Given the description of an element on the screen output the (x, y) to click on. 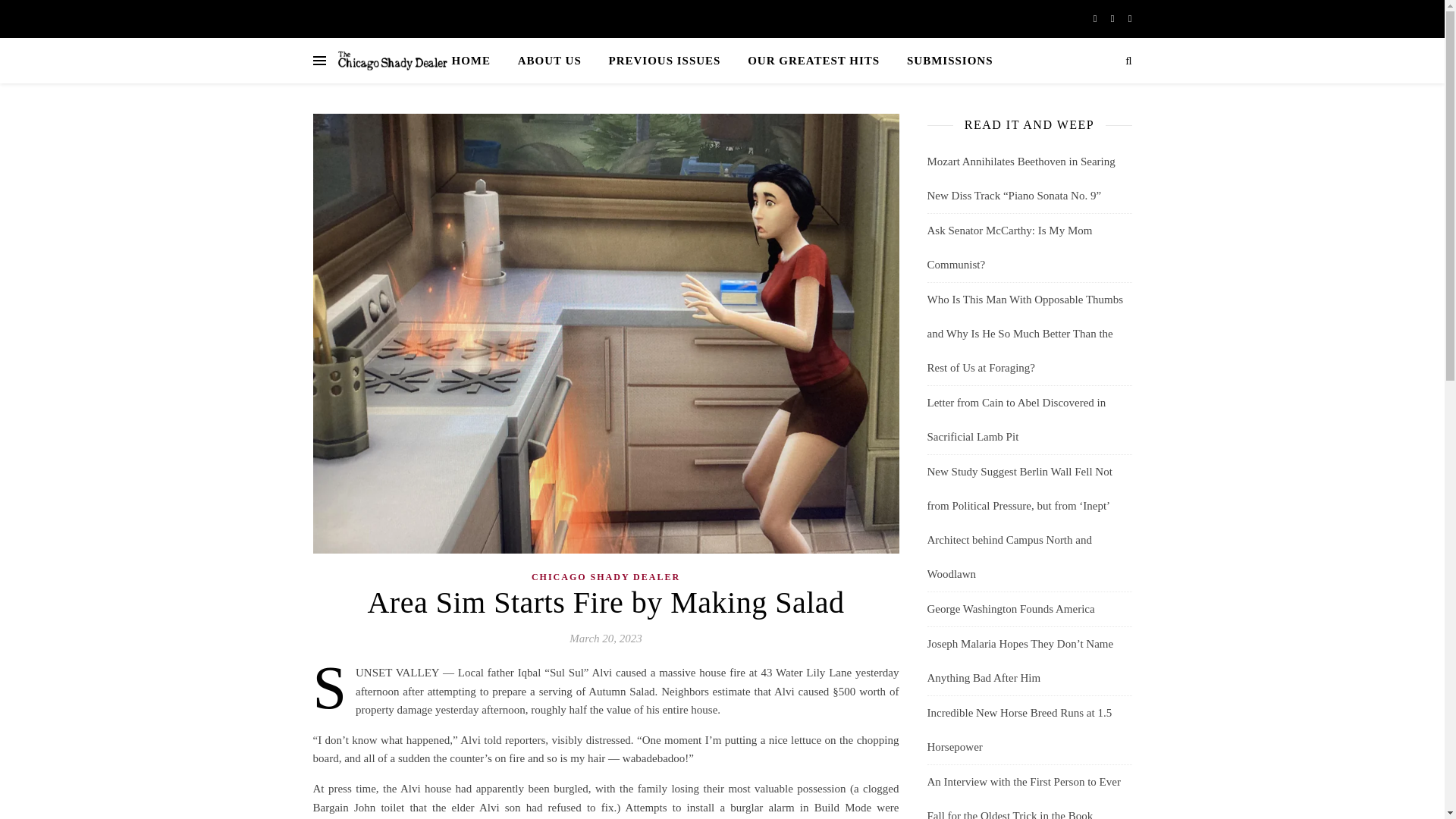
PREVIOUS ISSUES (663, 60)
SUBMISSIONS (943, 60)
The Chicago Shady Dealer (391, 60)
CHICAGO SHADY DEALER (605, 576)
HOME (476, 60)
ABOUT US (549, 60)
Ask Senator McCarthy: Is My Mom Communist? (1009, 247)
Letter from Cain to Abel Discovered in Sacrificial Lamb Pit (1015, 419)
George Washington Founds America (1010, 608)
